Given the description of an element on the screen output the (x, y) to click on. 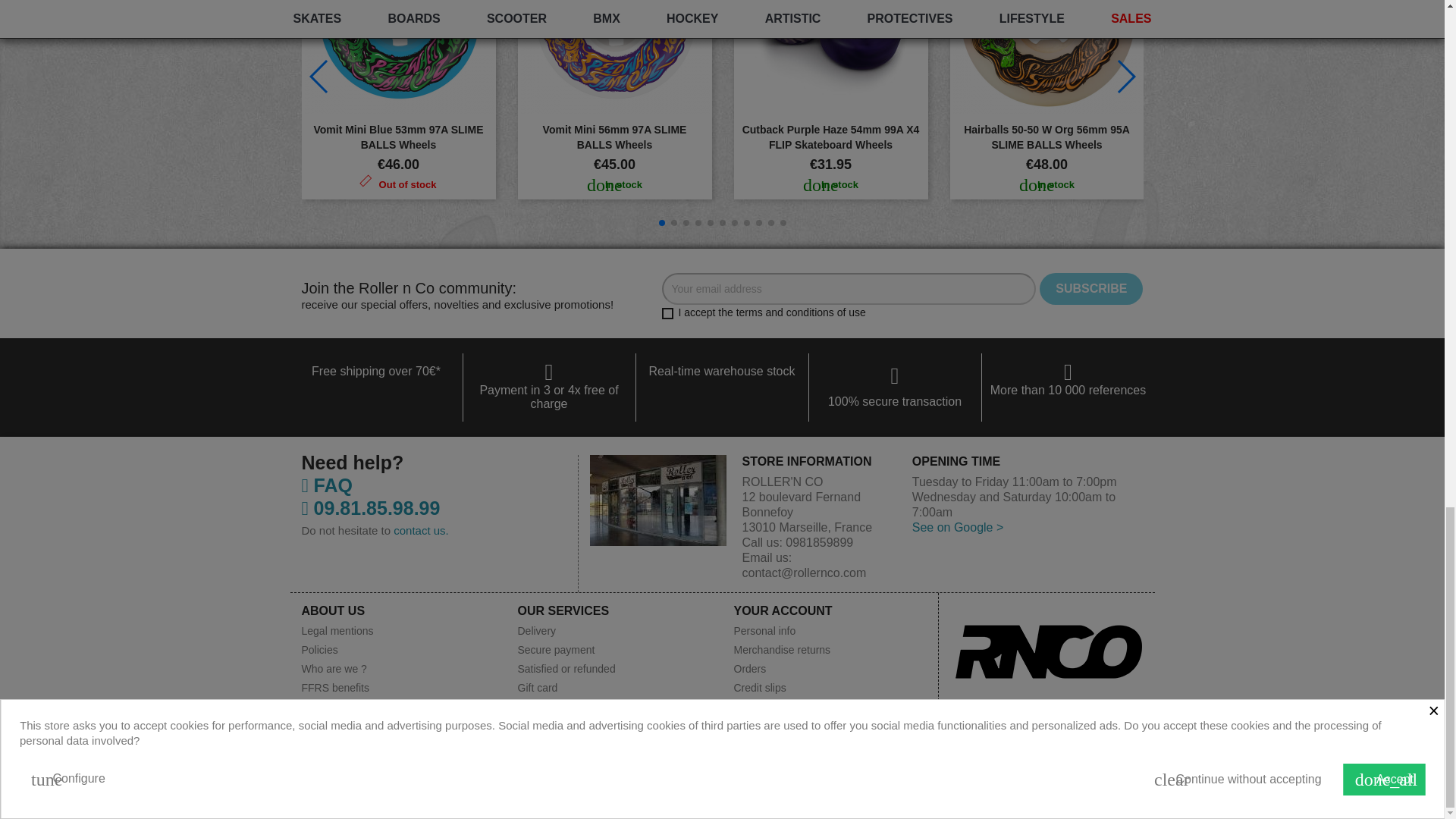
Subscribe (1090, 288)
